Given the description of an element on the screen output the (x, y) to click on. 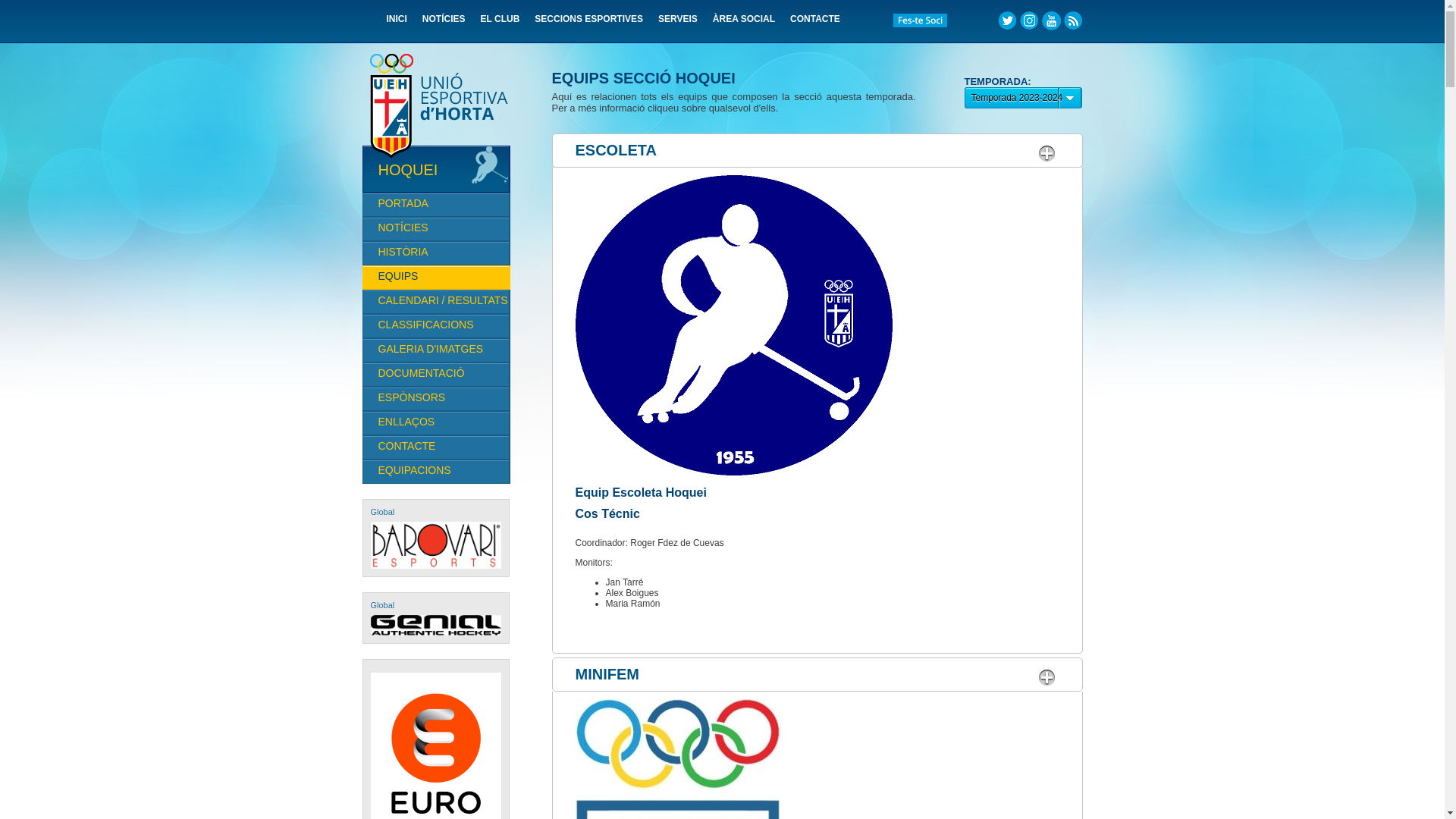
Conectar al Twitter de la UE Horta Element type: hover (1006, 20)
EL CLUB Element type: text (500, 23)
SERVEIS Element type: text (677, 23)
CONTACTE Element type: text (435, 447)
Conectar al Canal de la UE Horta Element type: hover (1050, 20)
PORTADA Element type: text (435, 204)
GALERIA D'IMATGES Element type: text (435, 350)
CALENDARI / RESULTATS Element type: text (435, 301)
SECCIONS ESPORTIVES Element type: text (588, 23)
CLASSIFICACIONS Element type: text (435, 325)
EQUIPACIONS Element type: text (435, 471)
INICI Element type: text (396, 23)
Fes-te soci Element type: hover (920, 20)
Conectar al RSS de la UE Horta Element type: hover (1072, 20)
CONTACTE Element type: text (815, 23)
Conectar al Instagram de la UE Horta Element type: hover (1028, 20)
